Given the description of an element on the screen output the (x, y) to click on. 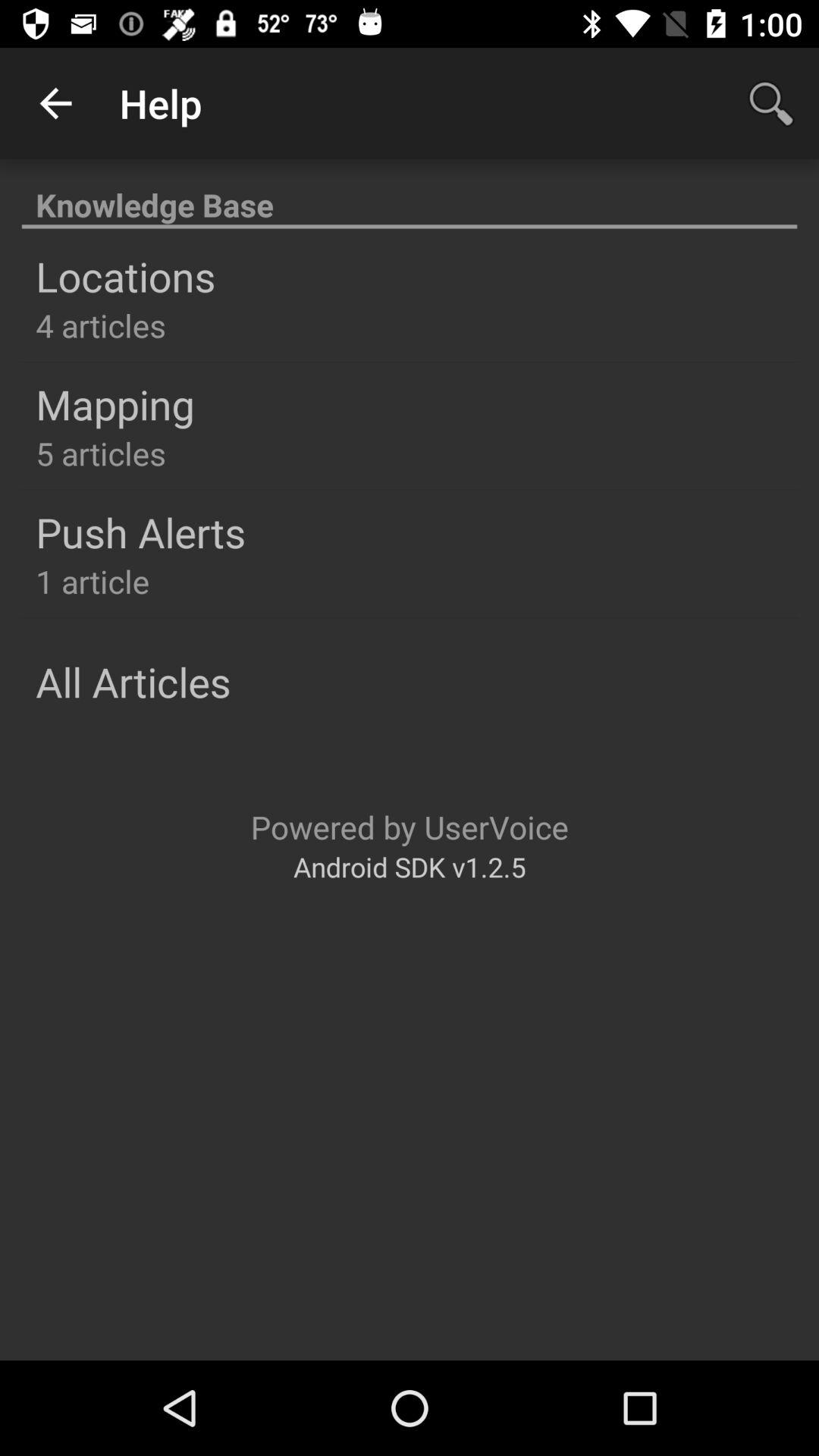
select 5 articles item (100, 452)
